Given the description of an element on the screen output the (x, y) to click on. 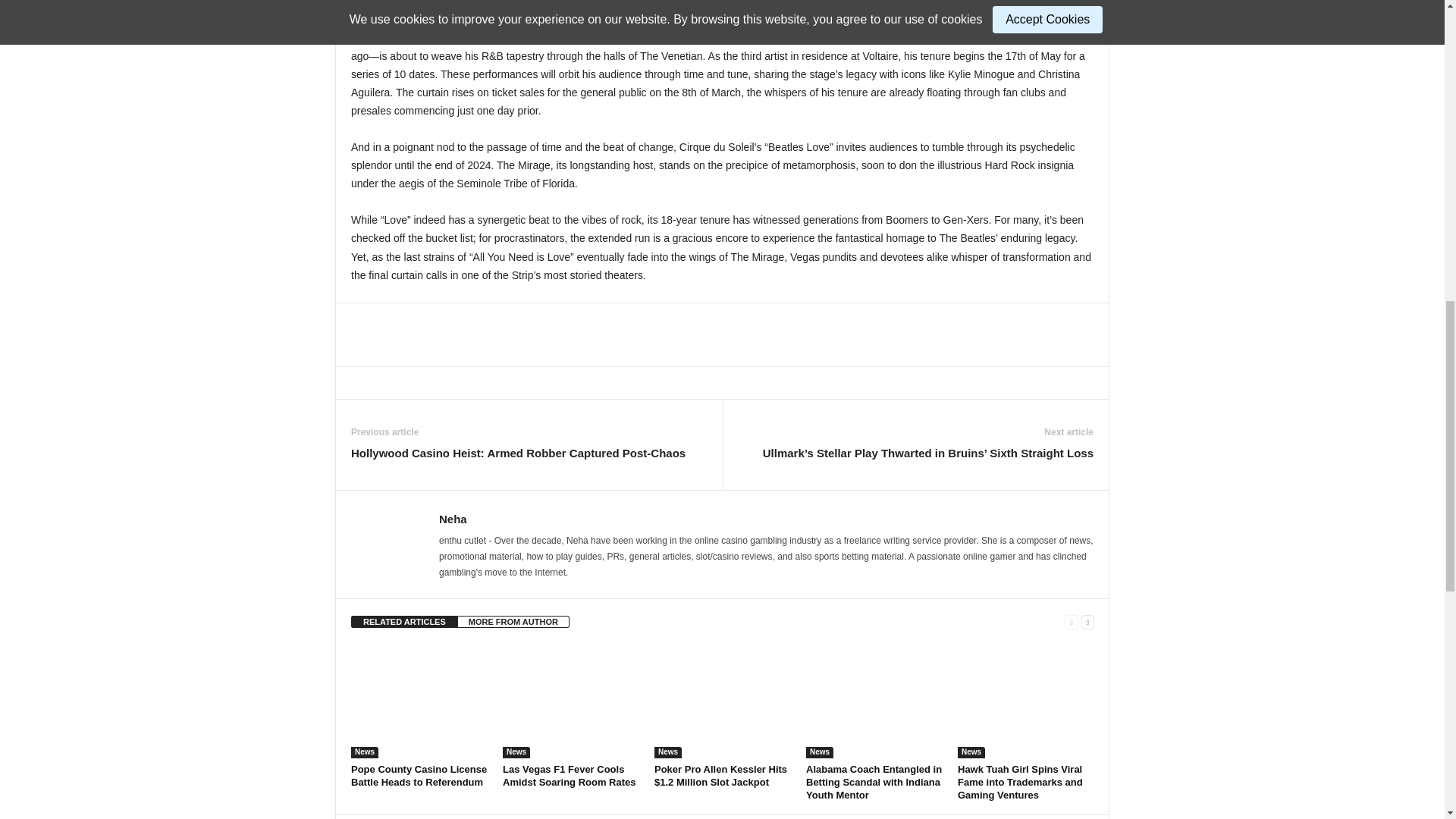
Las Vegas F1 Fever Cools Amidst Soaring Room Rates (569, 775)
Neha (453, 518)
RELATED ARTICLES (404, 621)
Hollywood Casino Heist: Armed Robber Captured Post-Chaos (517, 453)
MORE FROM AUTHOR (513, 621)
Pope County Casino License Battle Heads to Referendum (418, 775)
News (364, 752)
News (515, 752)
News (667, 752)
